Given the description of an element on the screen output the (x, y) to click on. 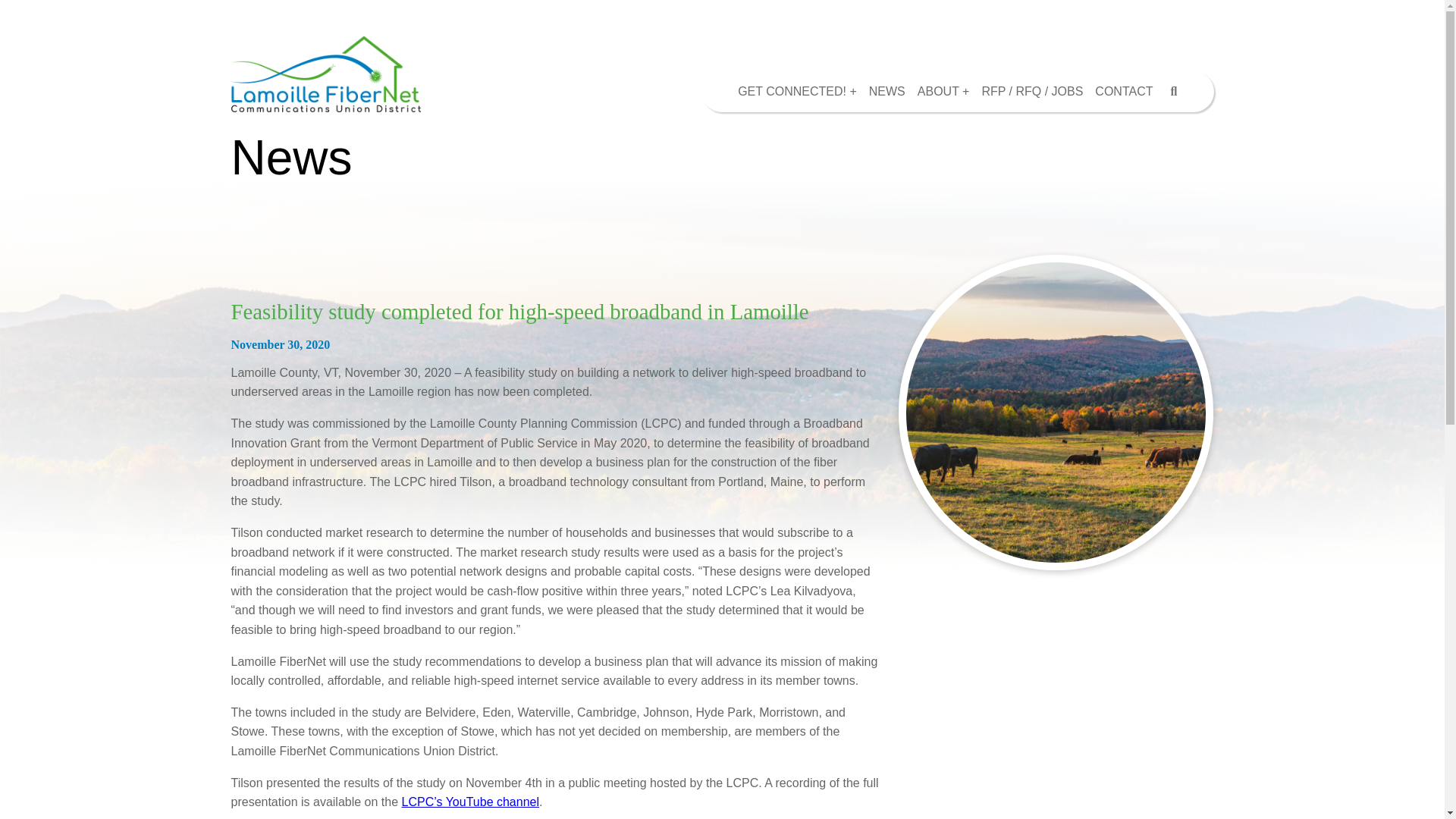
CONTACT (1123, 91)
GET CONNECTED! (797, 91)
NEWS (887, 91)
ABOUT (943, 91)
